Given the description of an element on the screen output the (x, y) to click on. 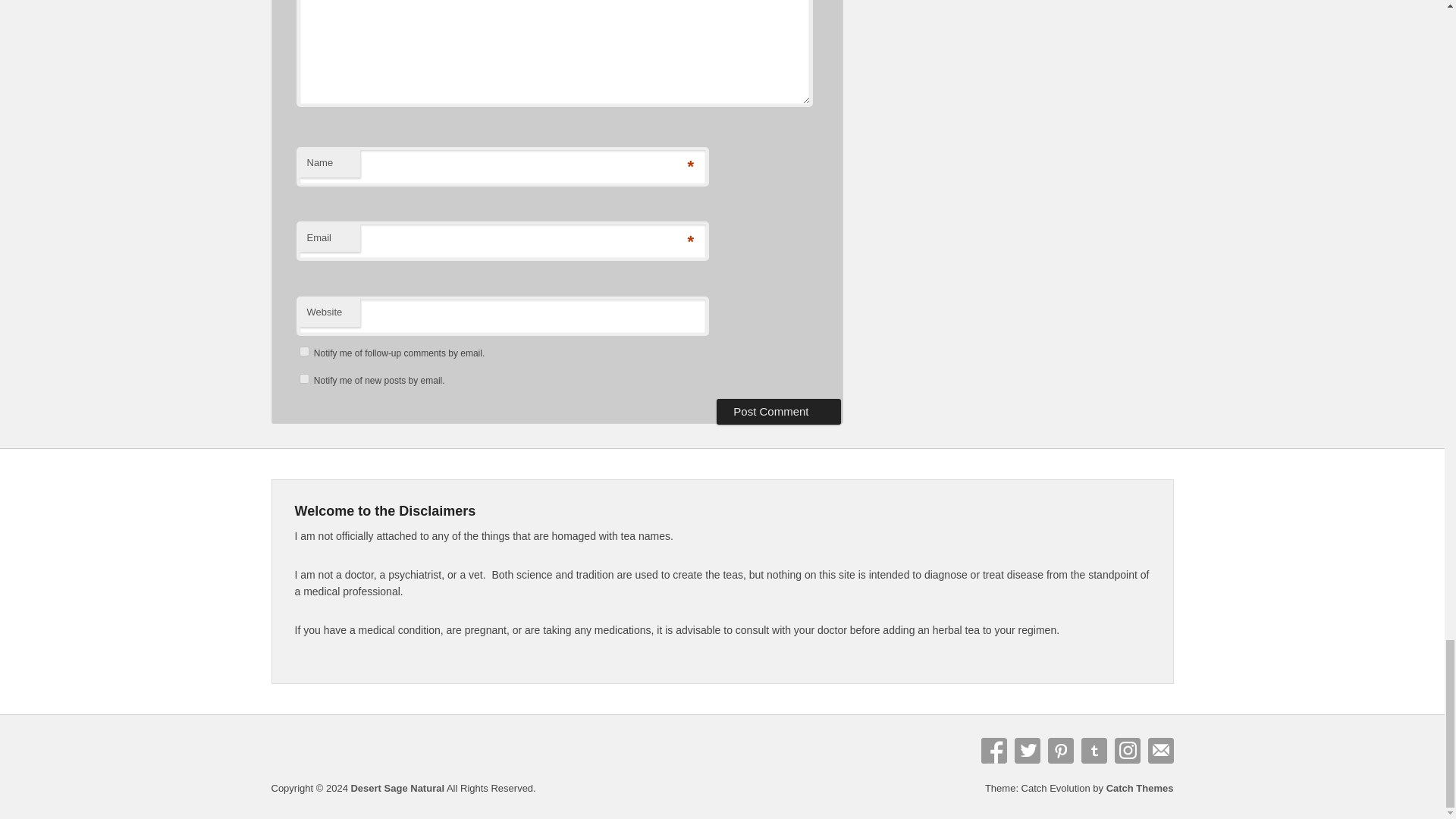
subscribe (303, 351)
Post Comment (778, 411)
subscribe (303, 378)
